Given the description of an element on the screen output the (x, y) to click on. 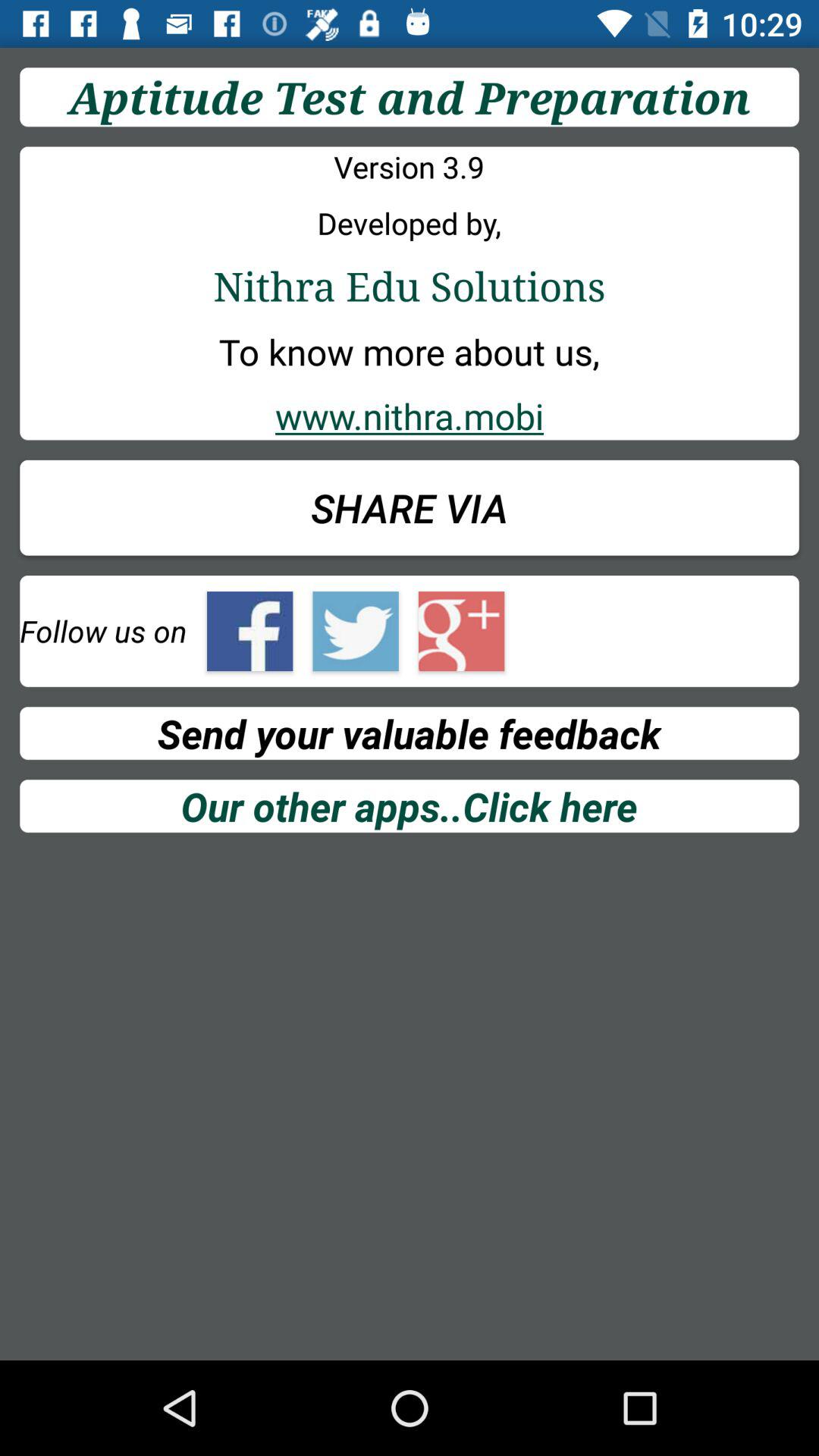
link to follow on twitter (355, 631)
